Given the description of an element on the screen output the (x, y) to click on. 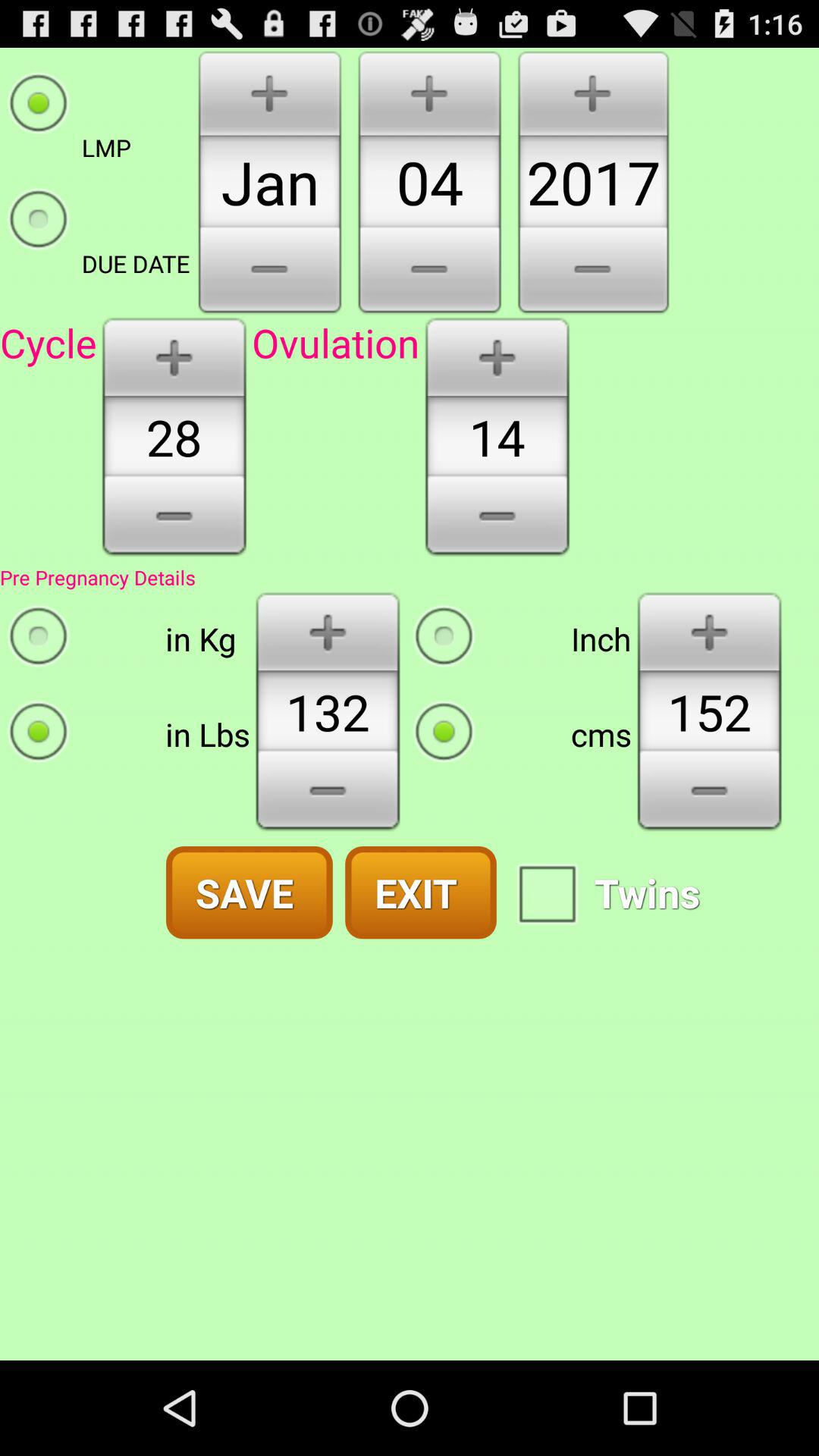
reduce by one (173, 521)
